Given the description of an element on the screen output the (x, y) to click on. 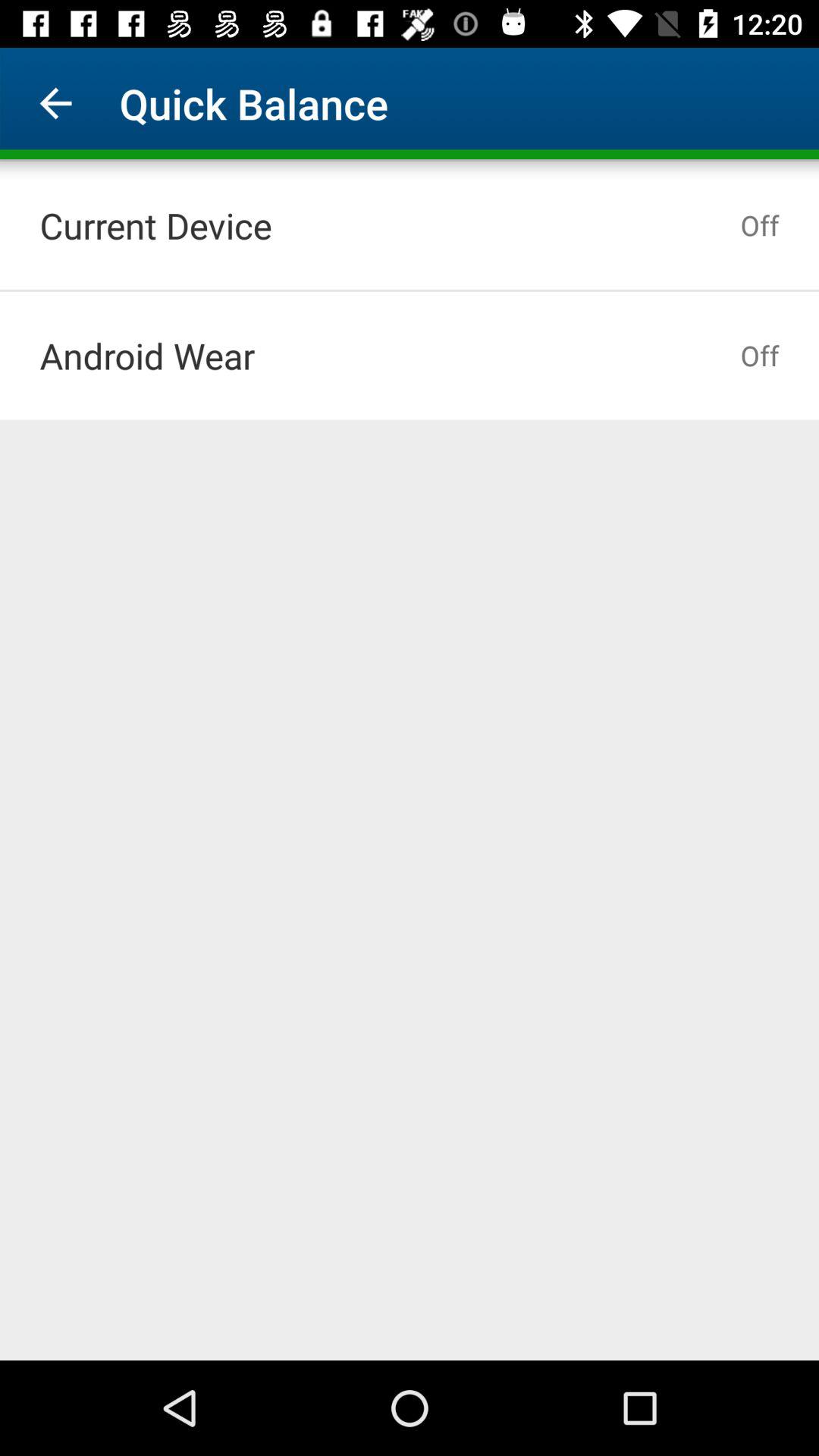
choose item to the left of the quick balance item (55, 103)
